Given the description of an element on the screen output the (x, y) to click on. 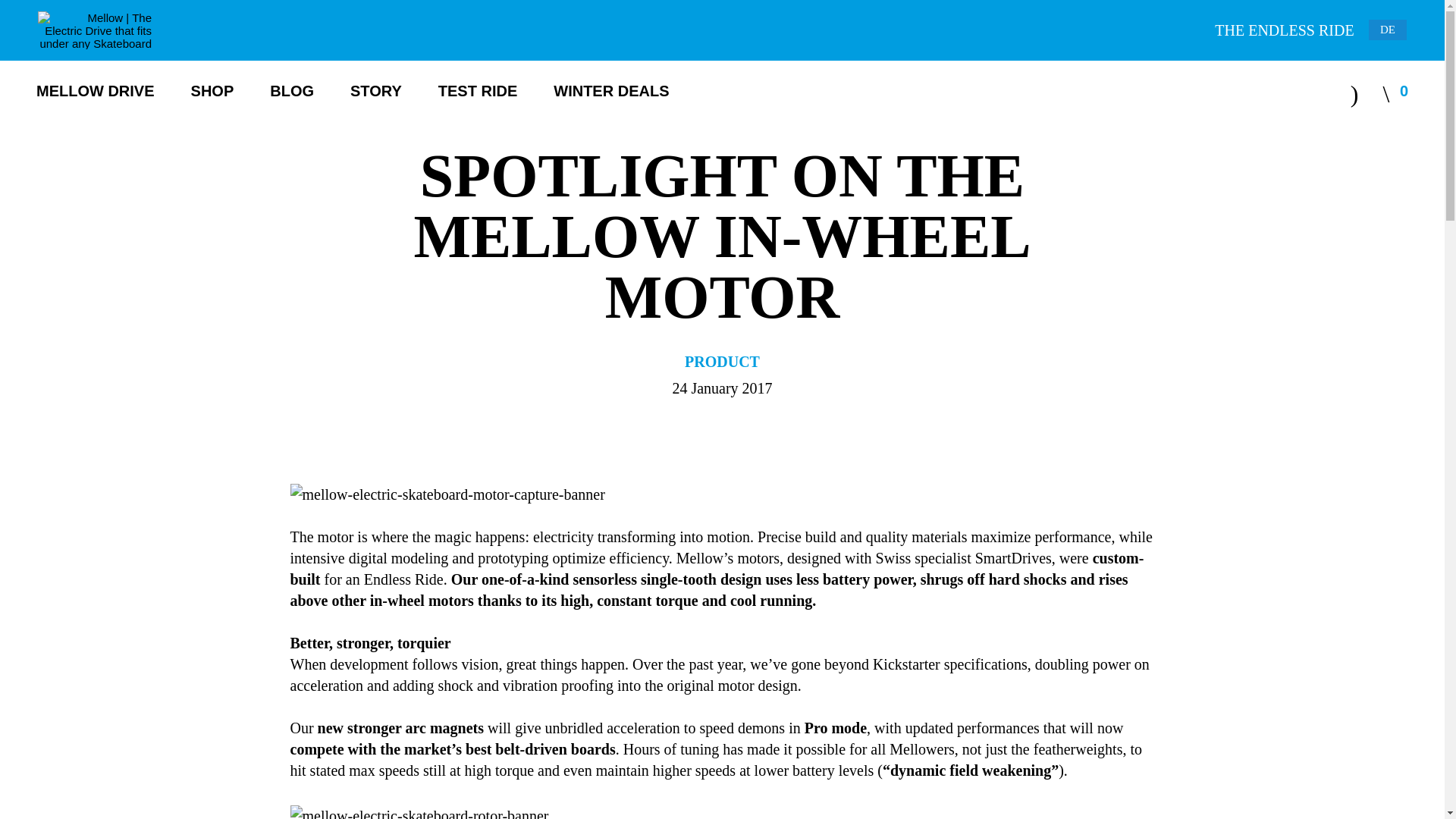
Winter Deals (610, 90)
Mellow Drive (95, 90)
WINTER DEALS (610, 90)
MELLOW DRIVE (95, 90)
DE (1387, 29)
Test Ride (477, 90)
TEST RIDE (477, 90)
